Given the description of an element on the screen output the (x, y) to click on. 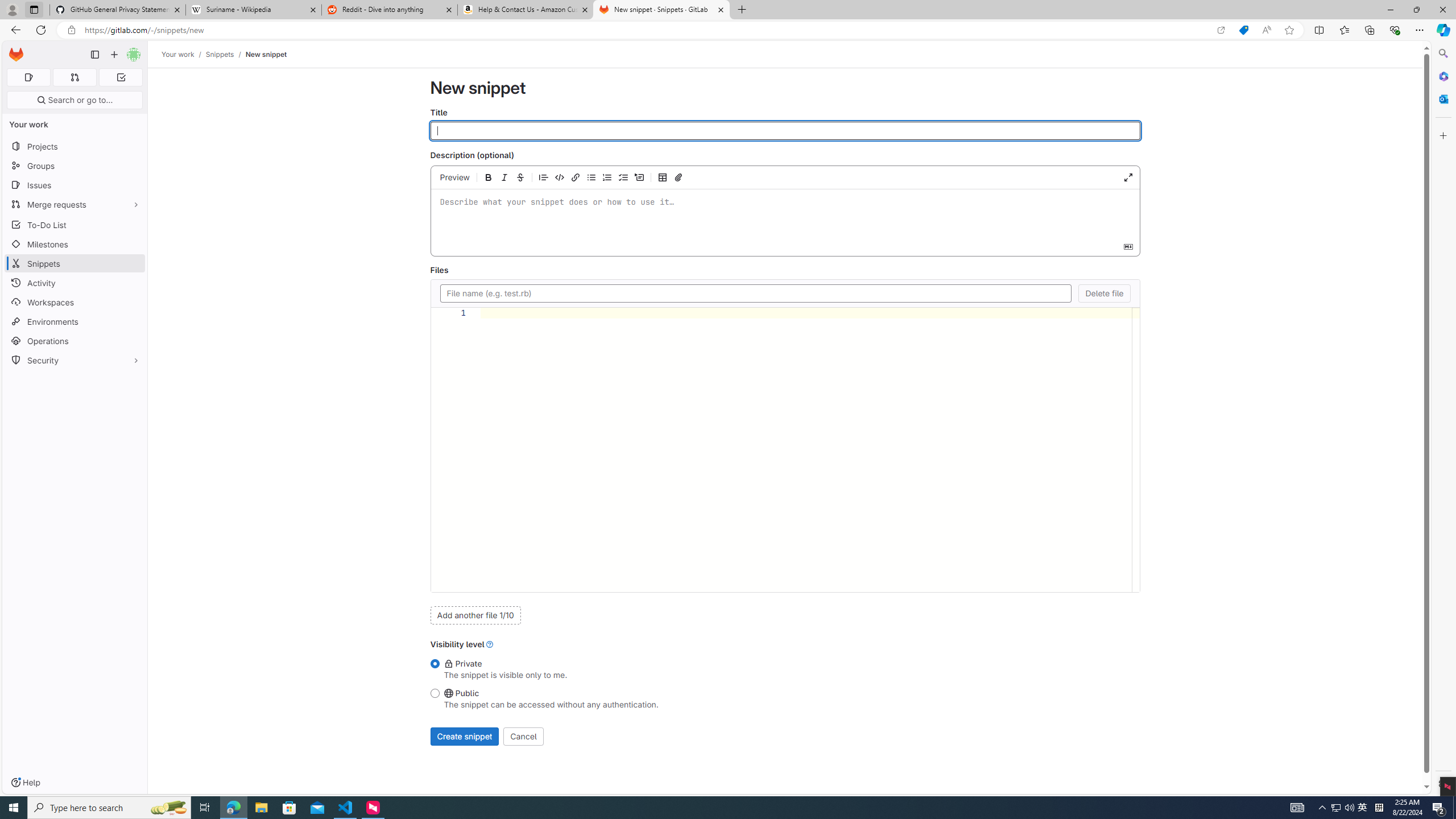
Snippets (219, 53)
Attach a file or image (678, 177)
Merge requests (74, 203)
Groups (74, 165)
New snippet (265, 53)
Operations (74, 340)
Groups (74, 165)
Activity (74, 282)
Merge requests 0 (74, 76)
Delete file (1104, 293)
